Given the description of an element on the screen output the (x, y) to click on. 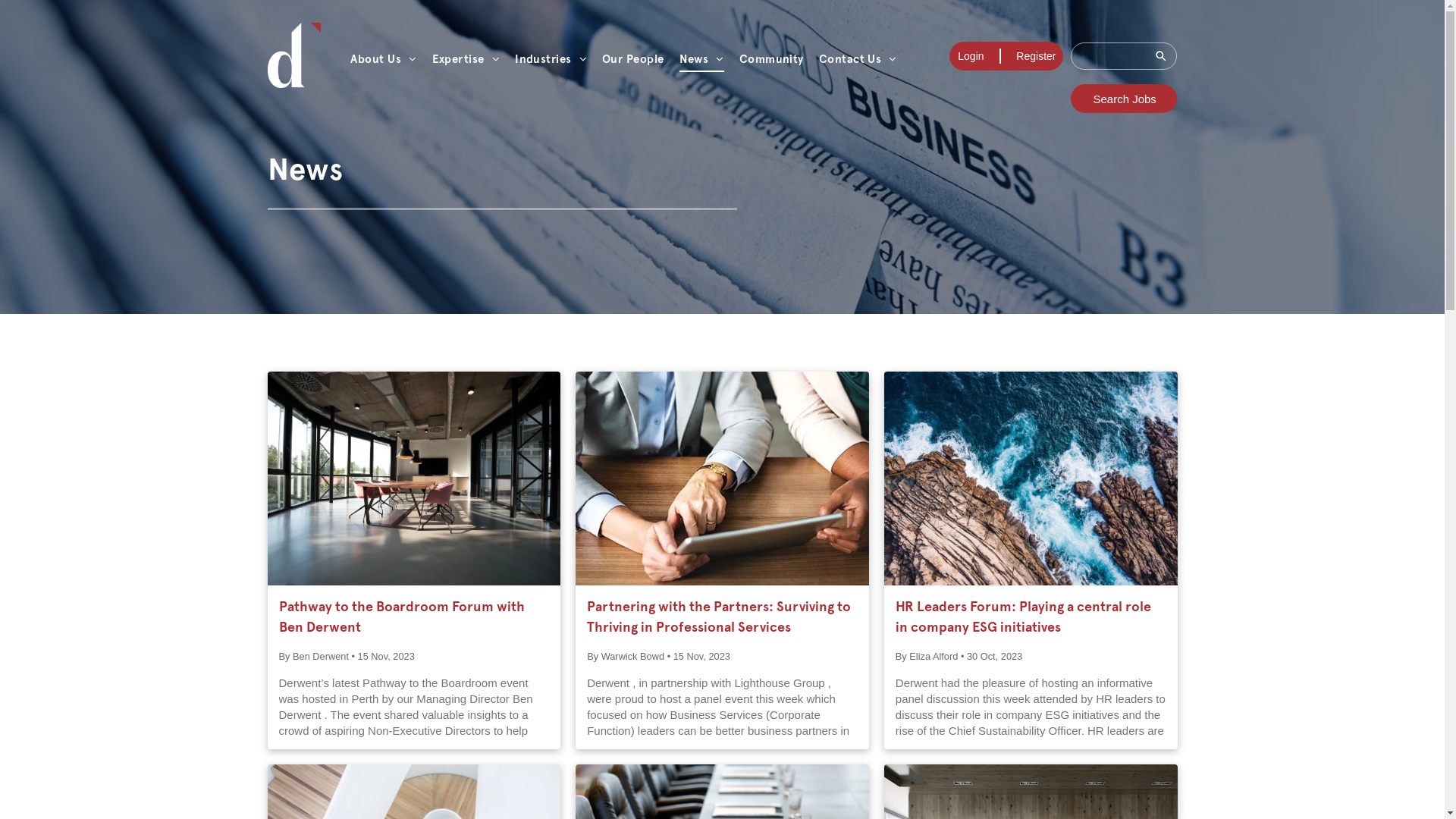
Expertise Element type: text (466, 59)
Industries Element type: text (550, 59)
Search Jobs Element type: text (1123, 98)
Contact Us Element type: text (857, 59)
Community Element type: text (771, 59)
Pathway to the Boardroom Forum with Ben Derwent Element type: text (414, 616)
News Element type: text (701, 59)
Register Element type: text (1035, 55)
Our People Element type: text (632, 59)
About Us Element type: text (382, 59)
Login Element type: text (970, 55)
